Given the description of an element on the screen output the (x, y) to click on. 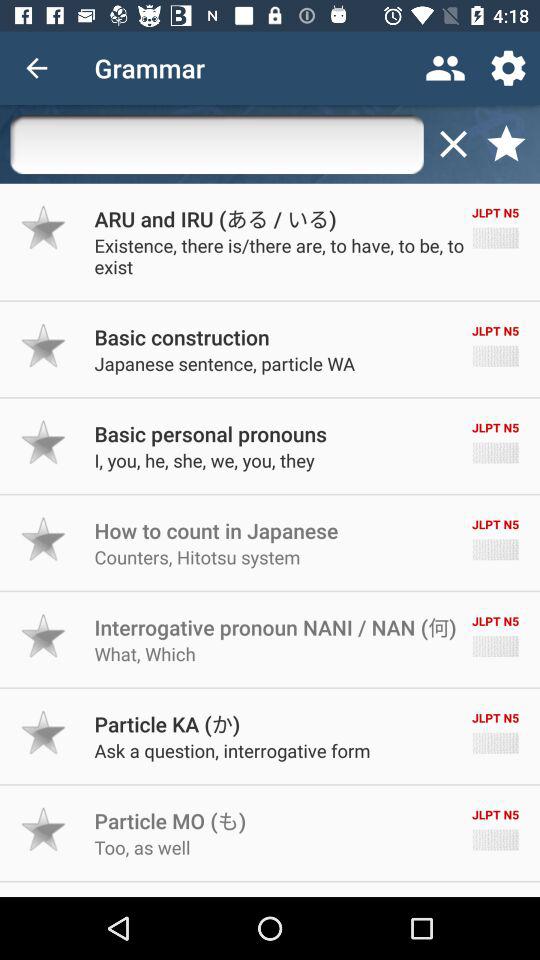
turn off the item next to grammar item (444, 67)
